Given the description of an element on the screen output the (x, y) to click on. 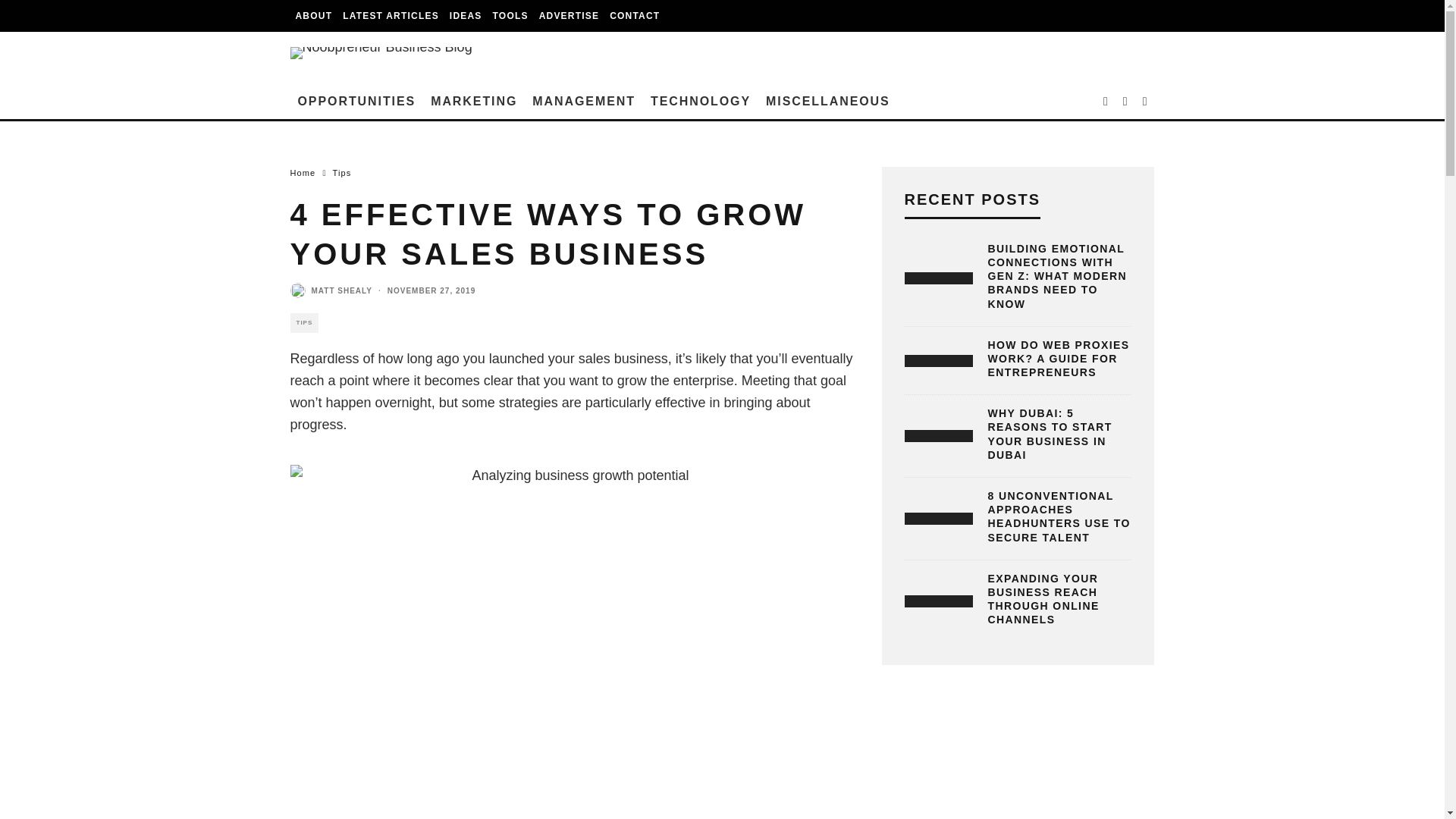
ADVERTISE (569, 15)
Small Business Apps (510, 15)
MARKETING (473, 101)
Other Business News and Tips (828, 101)
OPPORTUNITIES (356, 101)
LATEST ARTICLES (390, 15)
TOOLS (510, 15)
MANAGEMENT (583, 101)
ABOUT (313, 15)
CONTACT (634, 15)
IDEAS (465, 15)
Small Business Ideas (465, 15)
Business Marketing (473, 101)
Information Technology (700, 101)
Business Opportunities (356, 101)
